Given the description of an element on the screen output the (x, y) to click on. 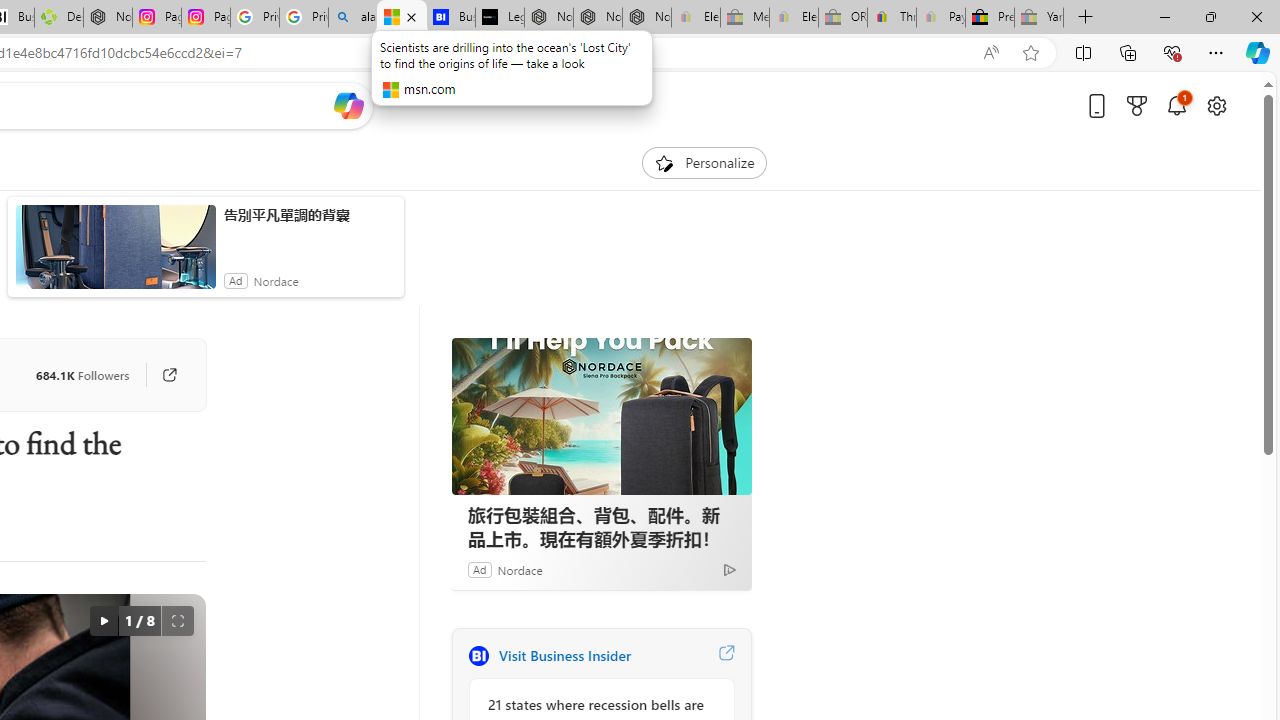
alabama high school quarterback dies - Search (353, 17)
Payments Terms of Use | eBay.com - Sleeping (940, 17)
